Given the description of an element on the screen output the (x, y) to click on. 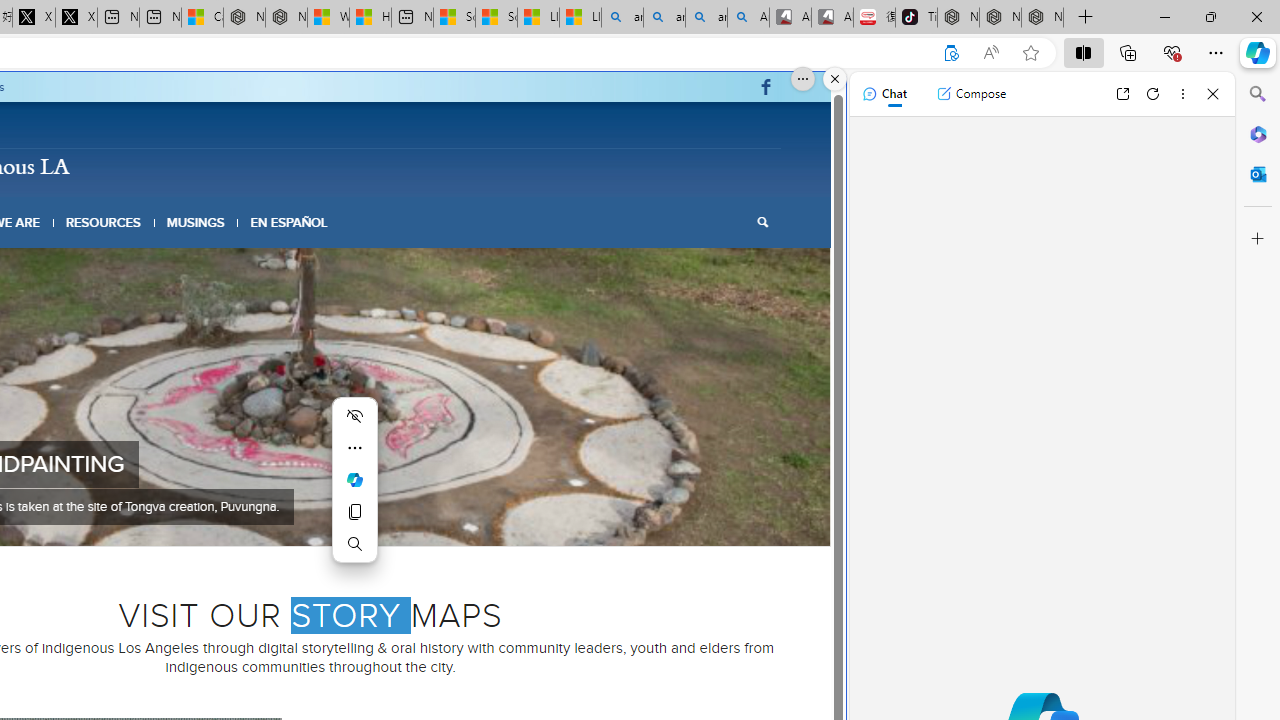
amazon - Search Images (706, 17)
Split screen (1083, 52)
New Tab (1085, 17)
Refresh (1153, 93)
6 (333, 520)
Settings and more (Alt+F) (1215, 52)
New tab (411, 17)
Search (762, 222)
Amazon Echo Robot - Search Images (748, 17)
Nordace - Siena Pro 15 Essential Set (1042, 17)
Read aloud this page (Ctrl+Shift+U) (991, 53)
Compose (971, 93)
2 (269, 520)
RESOURCES (102, 222)
